Given the description of an element on the screen output the (x, y) to click on. 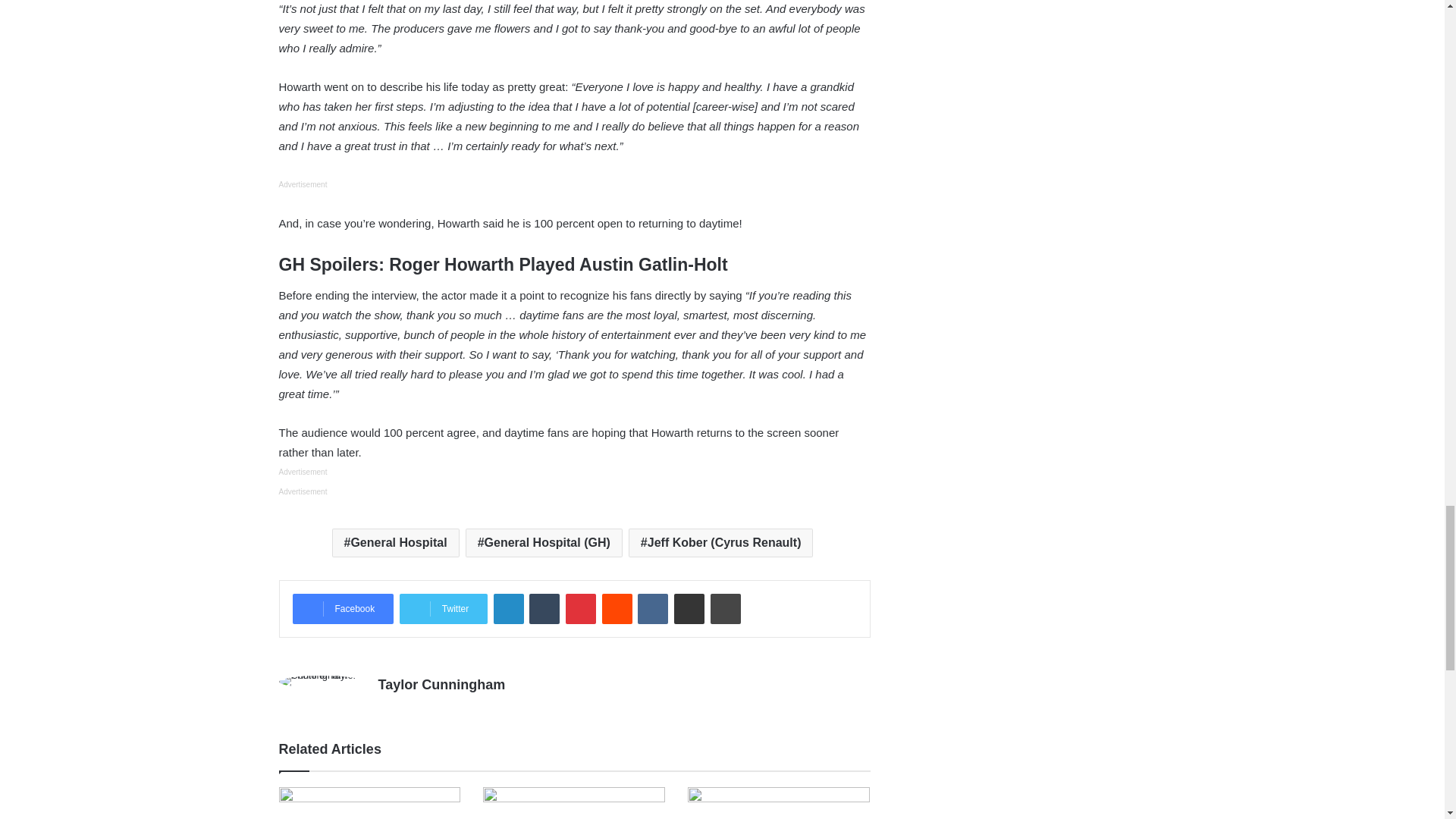
Twitter (442, 608)
Share via Email (689, 608)
Print (725, 608)
Share via Email (689, 608)
LinkedIn (508, 608)
General Hospital (395, 542)
Facebook (343, 608)
VKontakte (652, 608)
Pinterest (580, 608)
LinkedIn (508, 608)
Tumblr (544, 608)
Facebook (343, 608)
Twitter (442, 608)
Tumblr (544, 608)
Taylor Cunningham (441, 684)
